Given the description of an element on the screen output the (x, y) to click on. 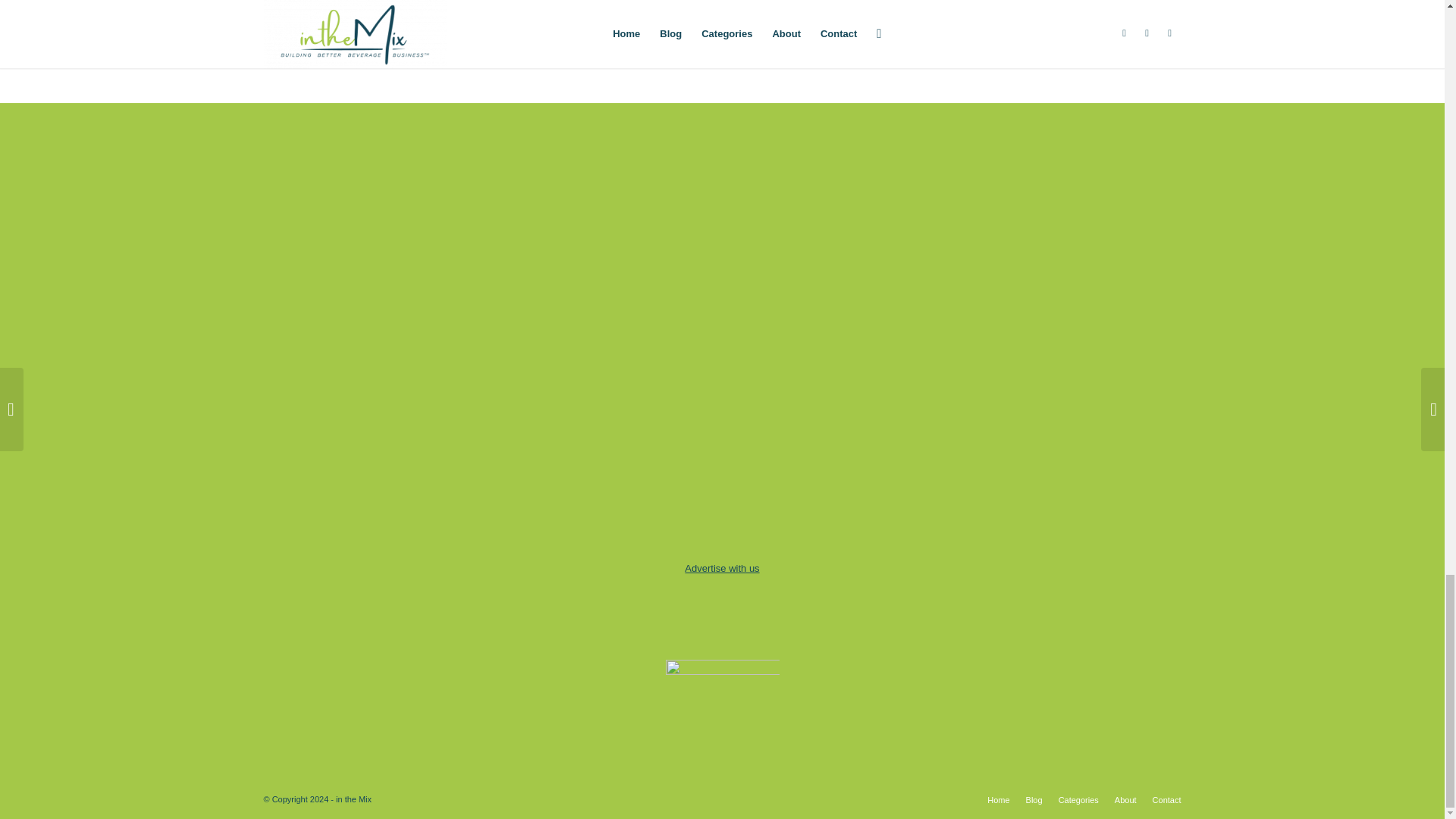
About (1126, 799)
Categories (1078, 799)
Home (998, 799)
Blog (1034, 799)
Advertise with us (721, 568)
Contact (1166, 799)
